Given the description of an element on the screen output the (x, y) to click on. 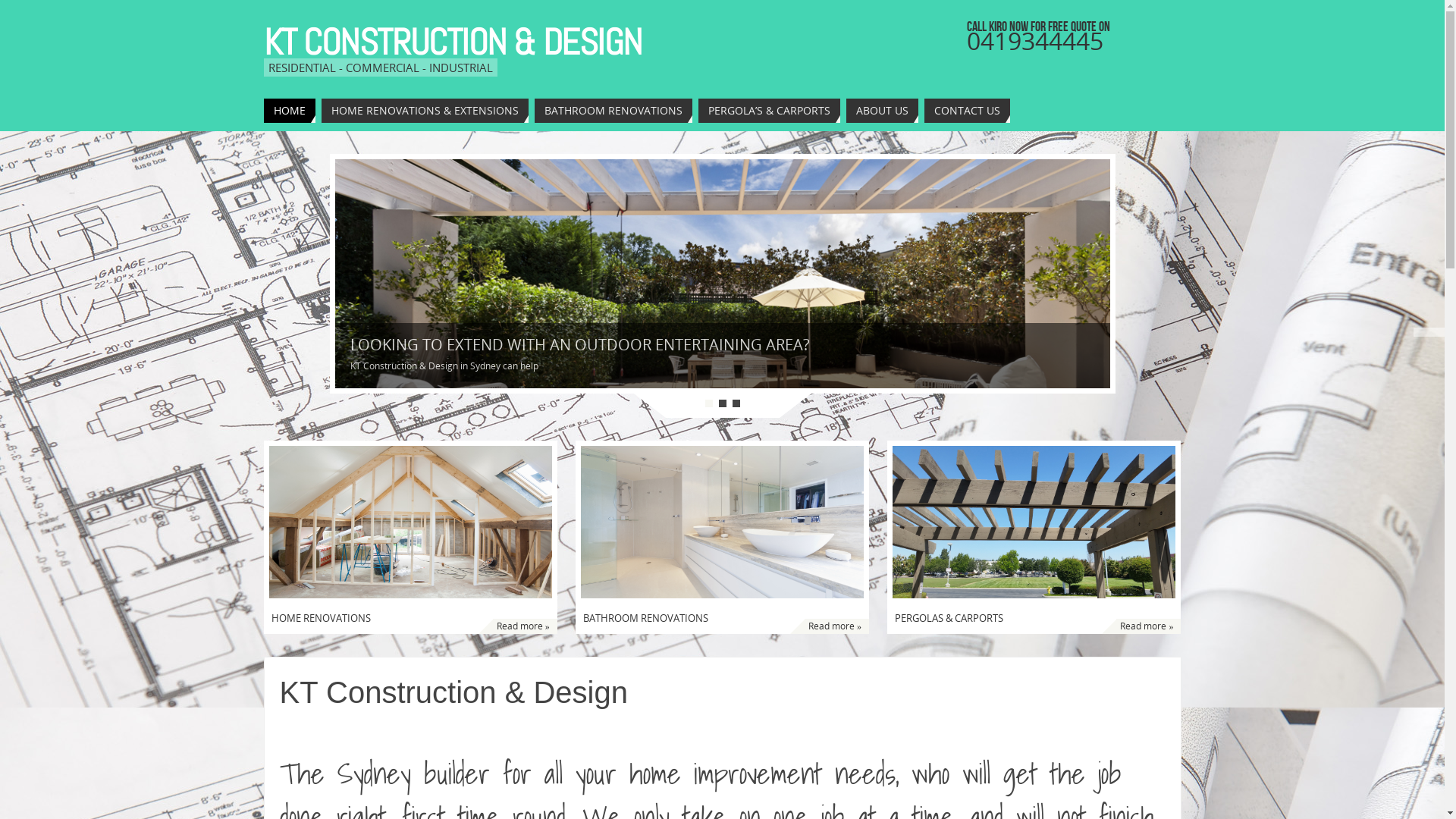
HOME RENOVATIONS & EXTENSIONS Element type: text (424, 110)
CONTACT US Element type: text (966, 110)
0419344445 Element type: text (1034, 40)
1 Element type: text (708, 403)
KT Construction & Design Element type: text (453, 692)
ABOUT US Element type: text (882, 110)
3 Element type: text (736, 403)
KT CONSTRUCTION & DESIGN Element type: text (452, 42)
2 Element type: text (722, 403)
HOME Element type: text (289, 110)
BATHROOM RENOVATIONS Element type: text (612, 110)
